Given the description of an element on the screen output the (x, y) to click on. 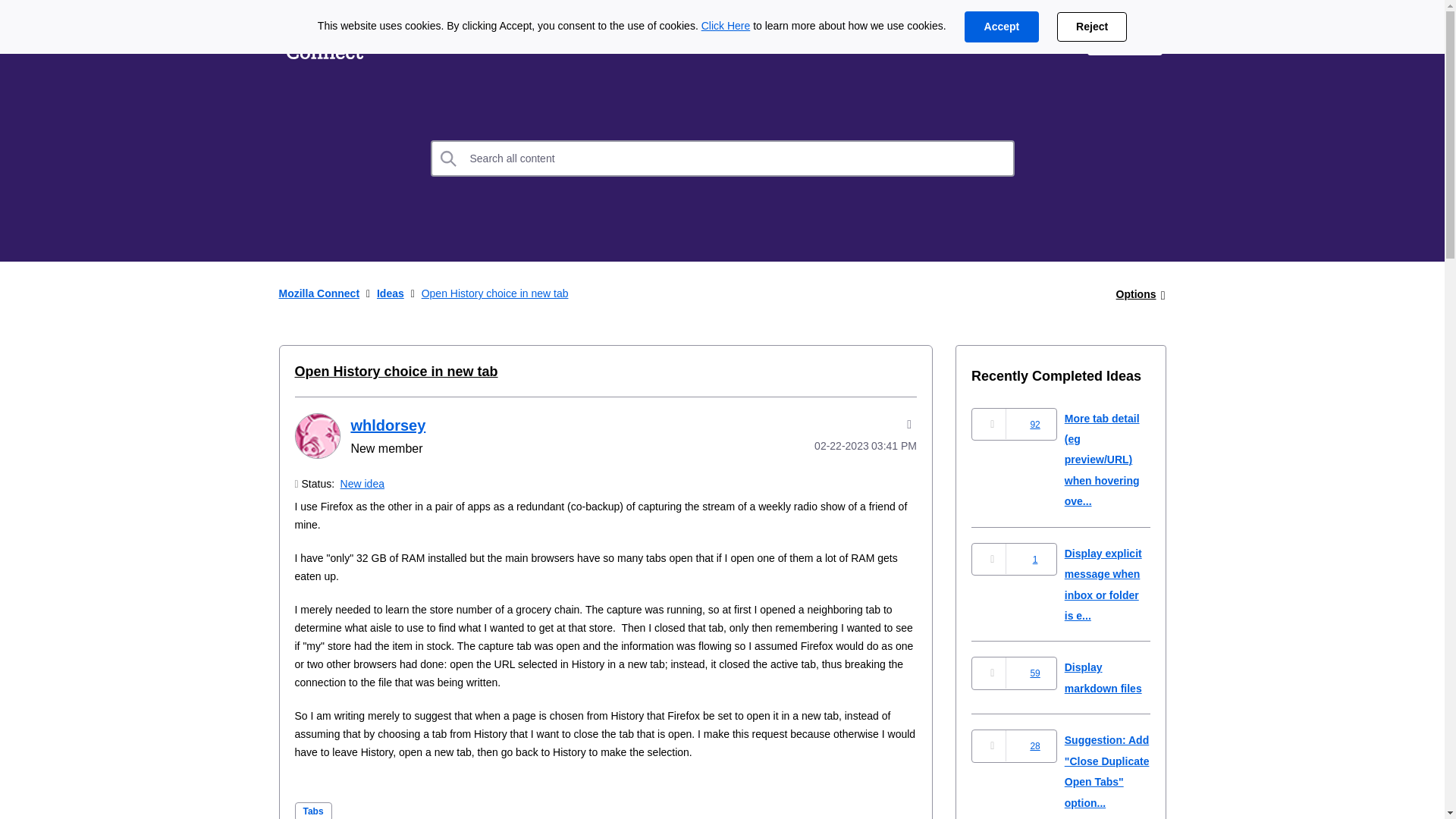
Options (1136, 294)
Search (448, 158)
Tabs (312, 810)
Mozilla Connect (319, 293)
Accept (1001, 26)
Search (448, 158)
Discussions (500, 39)
Open History choice in new tab (395, 371)
Community (607, 39)
Reject (1091, 26)
